Given the description of an element on the screen output the (x, y) to click on. 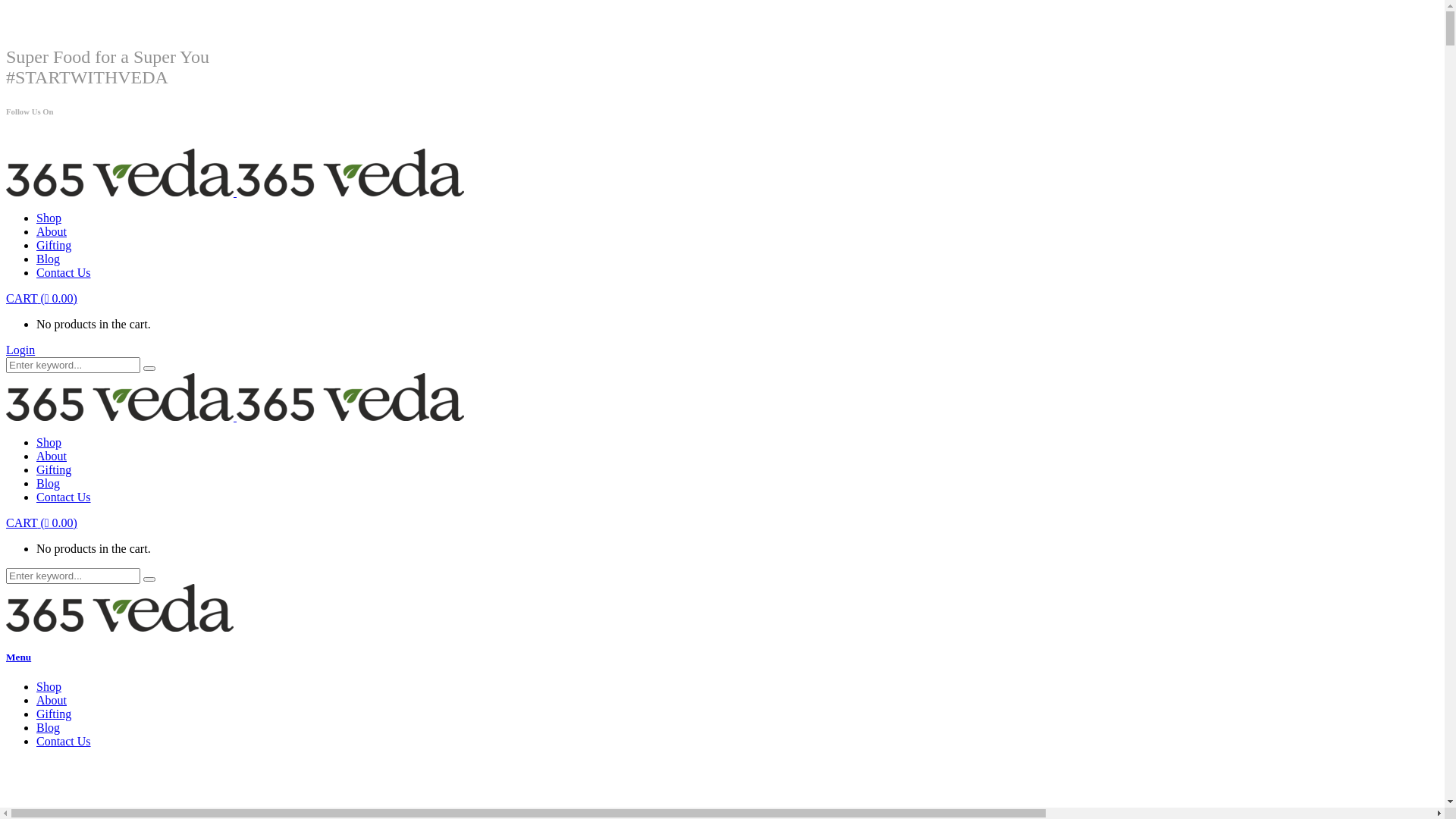
Shop Element type: text (48, 686)
Blog Element type: text (47, 482)
About Element type: text (51, 231)
Shop Element type: text (48, 442)
Gifting Element type: text (53, 244)
Gifting Element type: text (53, 469)
Contact Us Element type: text (63, 740)
Blog Element type: text (47, 258)
Contact Us Element type: text (63, 272)
Login Element type: text (20, 349)
Contact Us Element type: text (63, 496)
About Element type: text (51, 455)
Menu Element type: text (722, 657)
Gifting Element type: text (53, 713)
About Element type: text (51, 699)
Shop Element type: text (48, 217)
Blog Element type: text (47, 727)
